Given the description of an element on the screen output the (x, y) to click on. 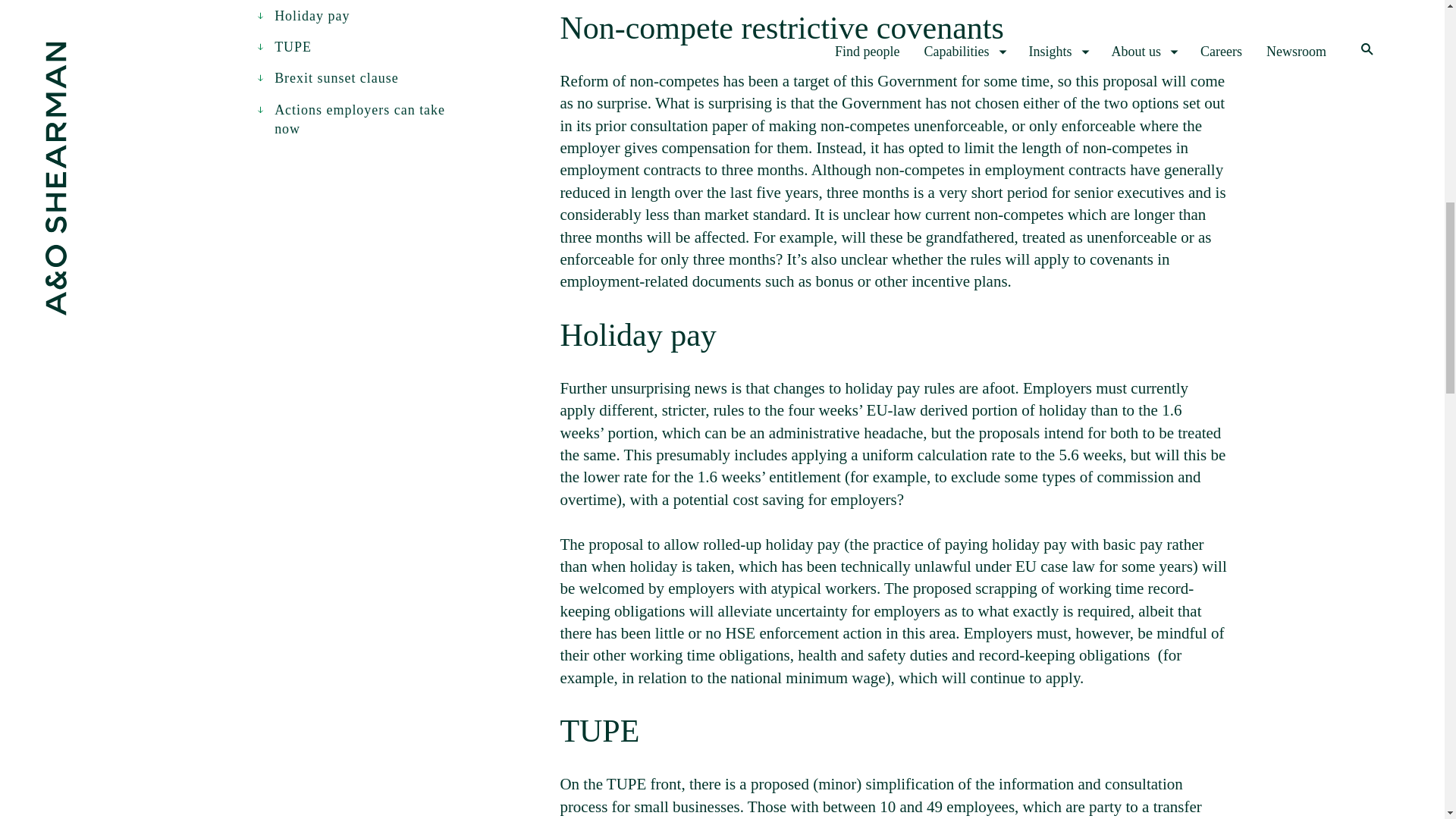
Brexit sunset clause (327, 77)
TUPE (283, 46)
Holiday pay (302, 15)
Actions employers can take now (355, 119)
